Given the description of an element on the screen output the (x, y) to click on. 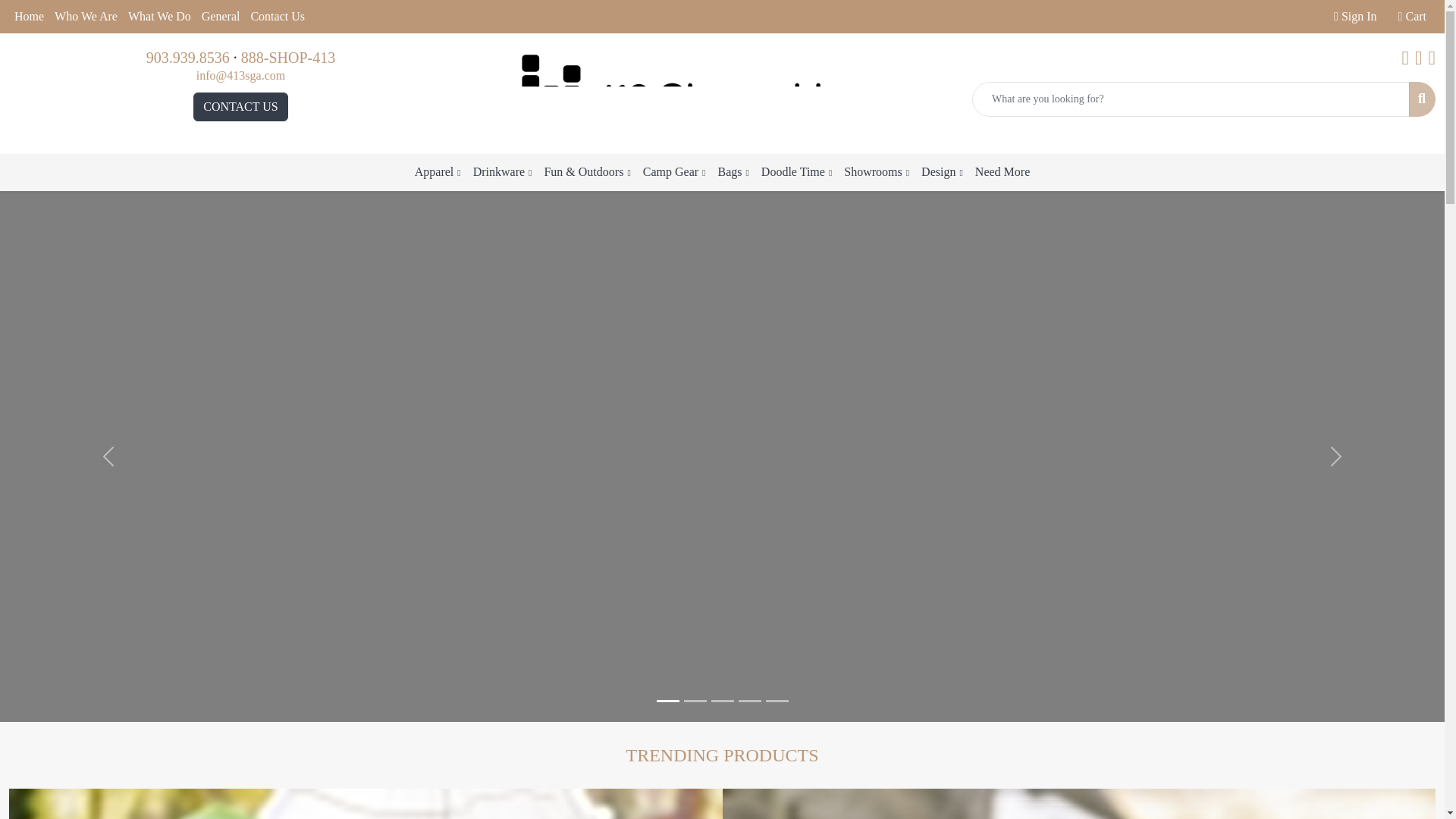
Drinkware (1078, 803)
903.939.8536 (188, 57)
General (221, 16)
CONTACT US (239, 106)
Home (28, 16)
Contact Us (277, 16)
Apparel (365, 803)
Who We Are (85, 16)
Sign In (1354, 16)
What We Do (159, 16)
888-SHOP-413 (287, 57)
Cart (1412, 16)
